Given the description of an element on the screen output the (x, y) to click on. 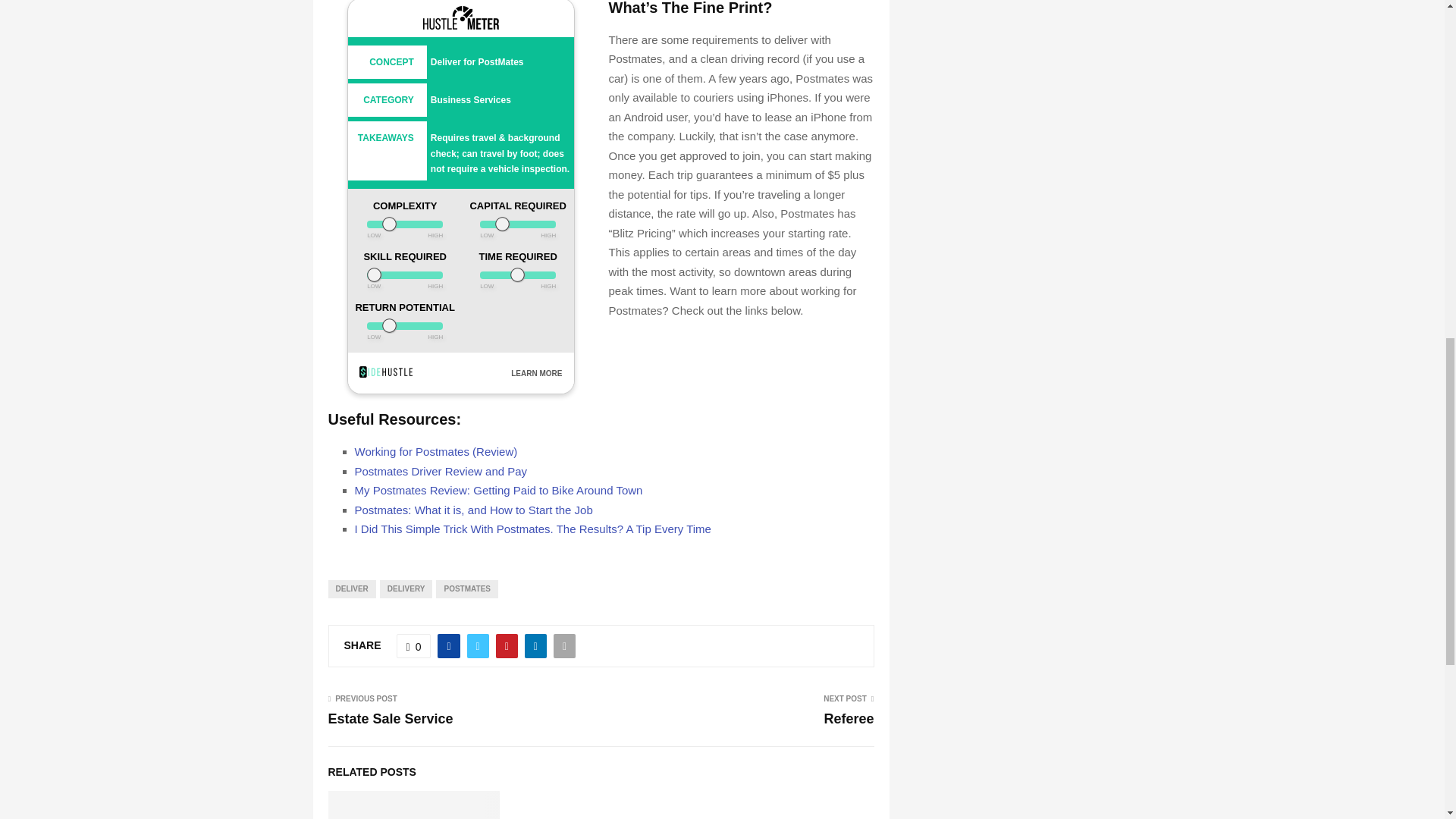
DELIVERY (406, 588)
LEARN MORE (536, 373)
Postmates Driver Review and Pay (441, 471)
Postmates: What it is, and How to Start the Job (473, 509)
Deliver for PostMates (477, 61)
DELIVER (351, 588)
POSTMATES (466, 588)
My Postmates Review: Getting Paid to Bike Around Town (499, 490)
0 (413, 645)
Like (413, 645)
